Given the description of an element on the screen output the (x, y) to click on. 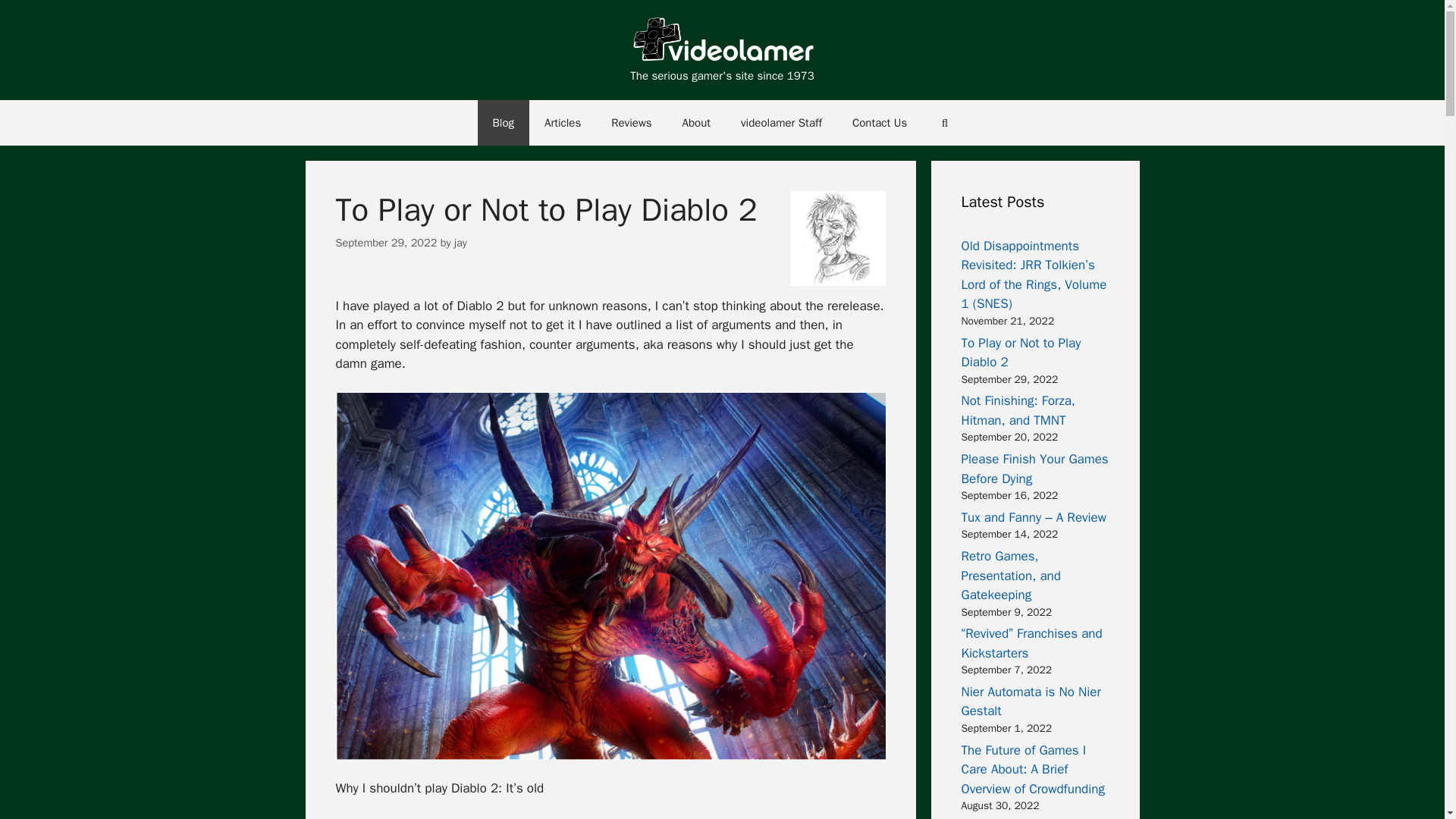
videolamer (721, 41)
Articles (562, 122)
Contact Us (879, 122)
View all posts by jay (460, 242)
Reviews (630, 122)
videolamer (721, 40)
About (695, 122)
Blog (503, 122)
jay (837, 237)
videolamer Staff (781, 122)
jay (460, 242)
